Given the description of an element on the screen output the (x, y) to click on. 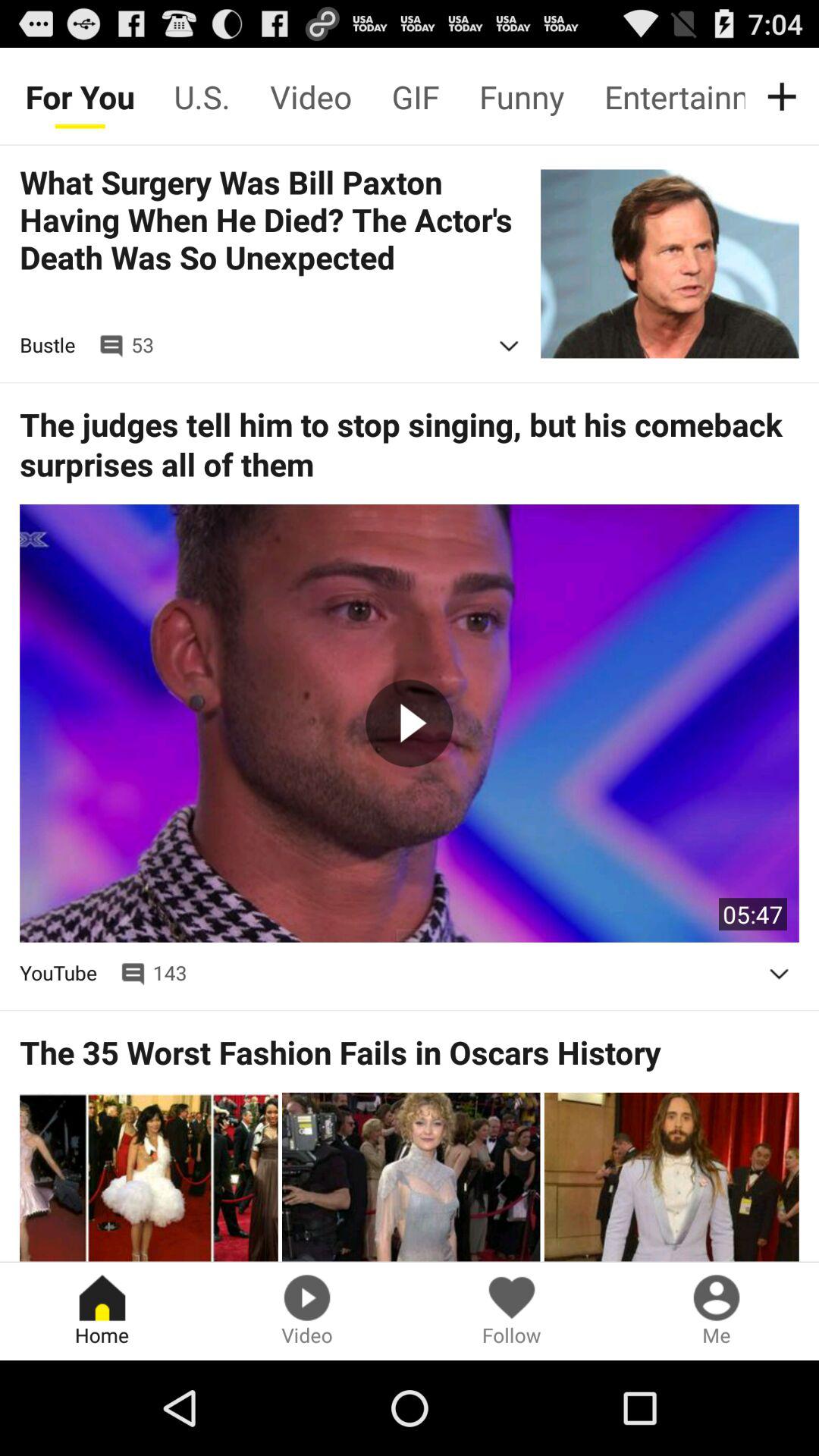
more details (508, 346)
